Given the description of an element on the screen output the (x, y) to click on. 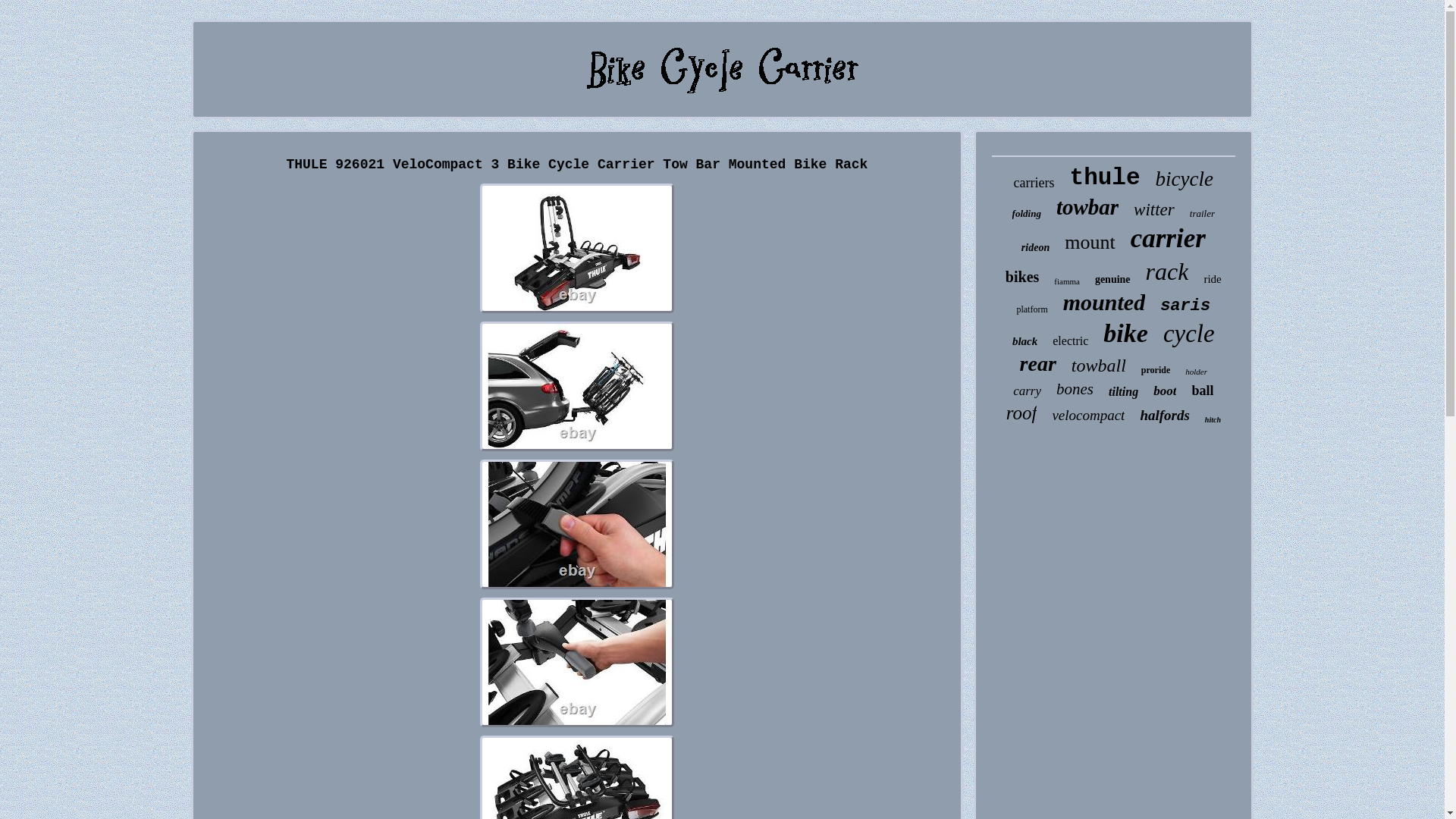
proride (1155, 369)
genuine (1112, 279)
ride (1212, 278)
bicycle (1184, 178)
trailer (1201, 214)
mounted (1103, 302)
mount (1089, 241)
bones (1075, 389)
